Given the description of an element on the screen output the (x, y) to click on. 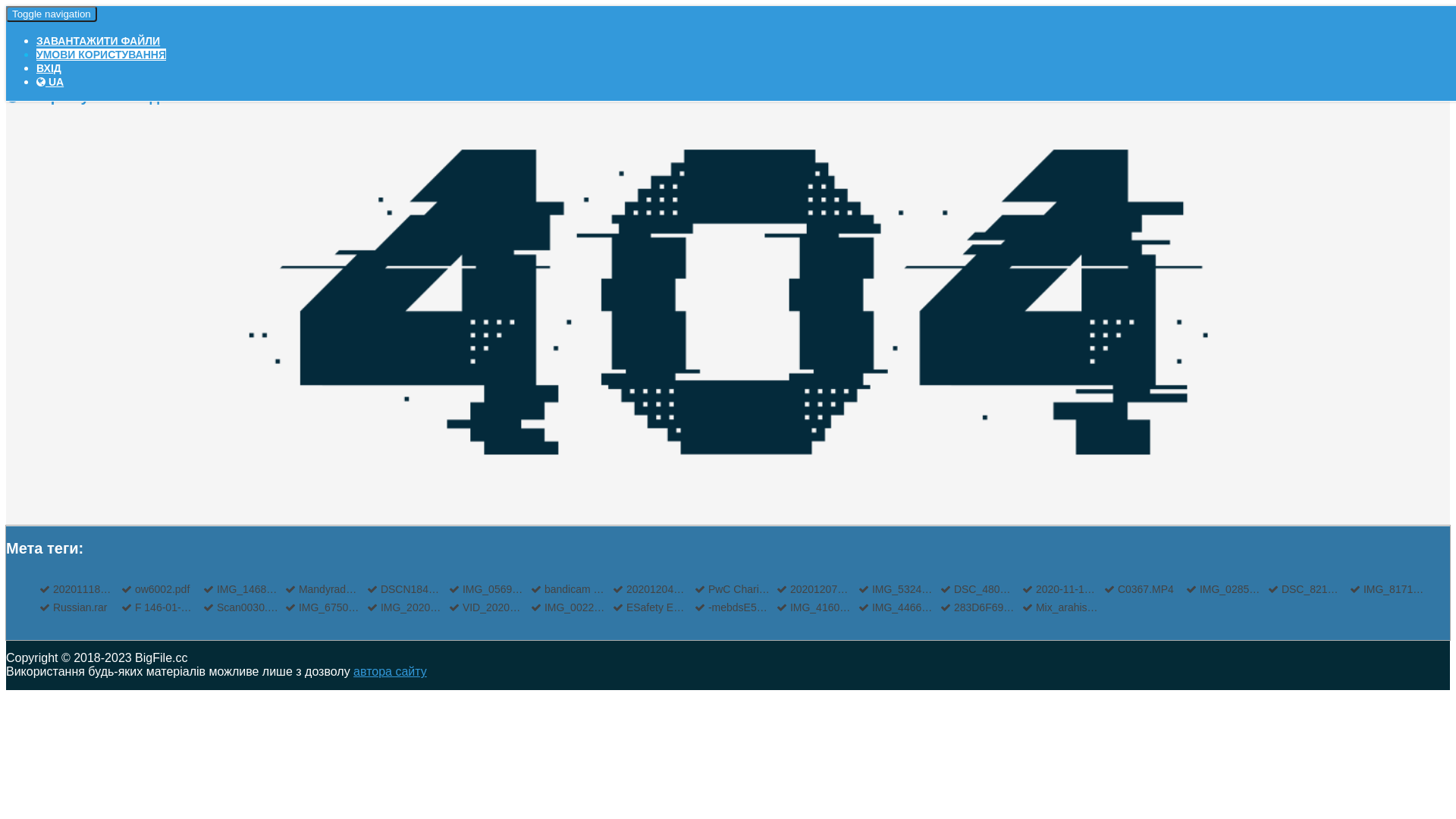
UA Element type: text (49, 81)
Toggle navigation Element type: text (51, 13)
